Given the description of an element on the screen output the (x, y) to click on. 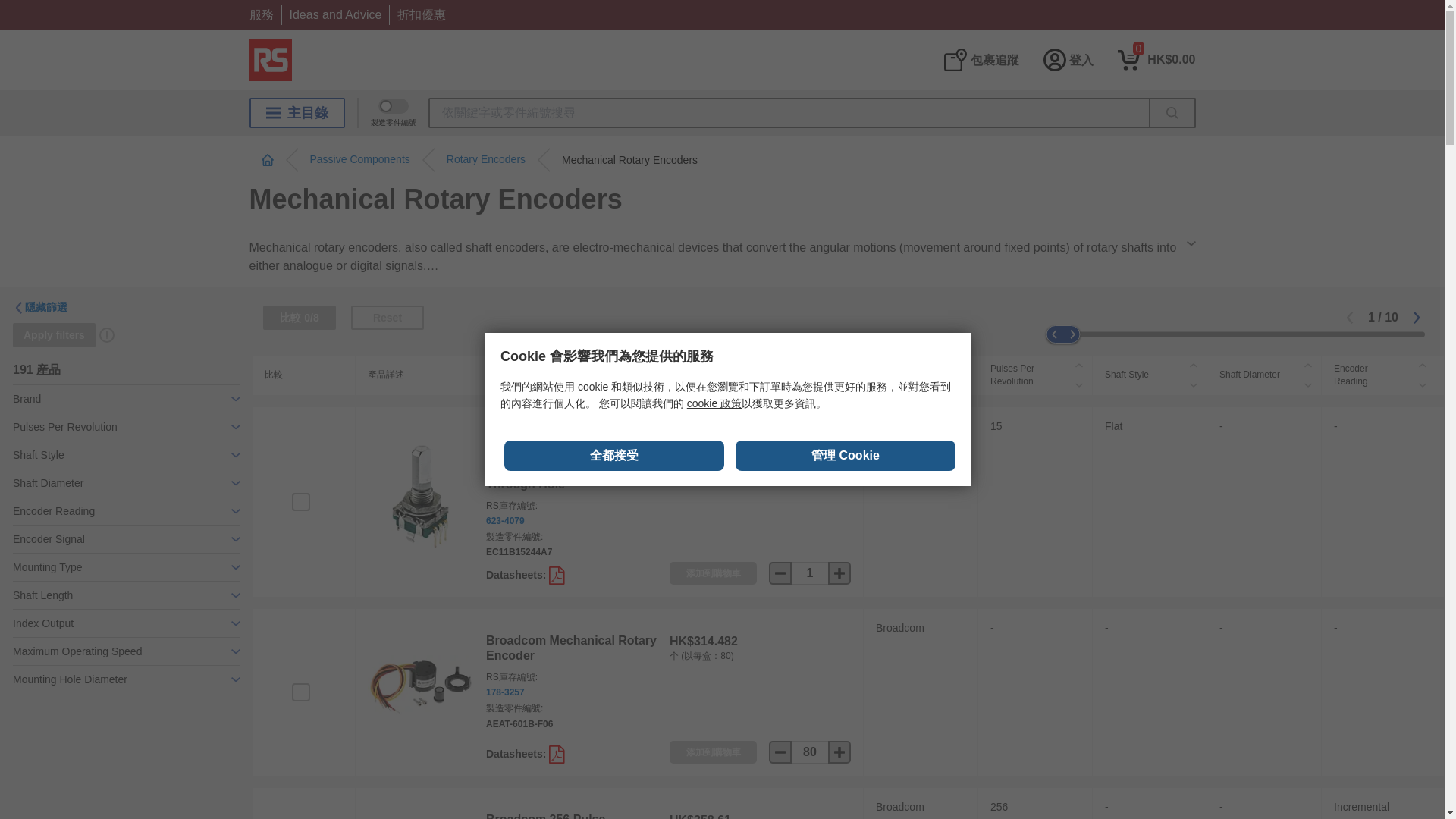
80 (810, 752)
on (299, 692)
0 (1156, 59)
1 (810, 572)
on (299, 502)
Ideas and Advice (335, 14)
